Given the description of an element on the screen output the (x, y) to click on. 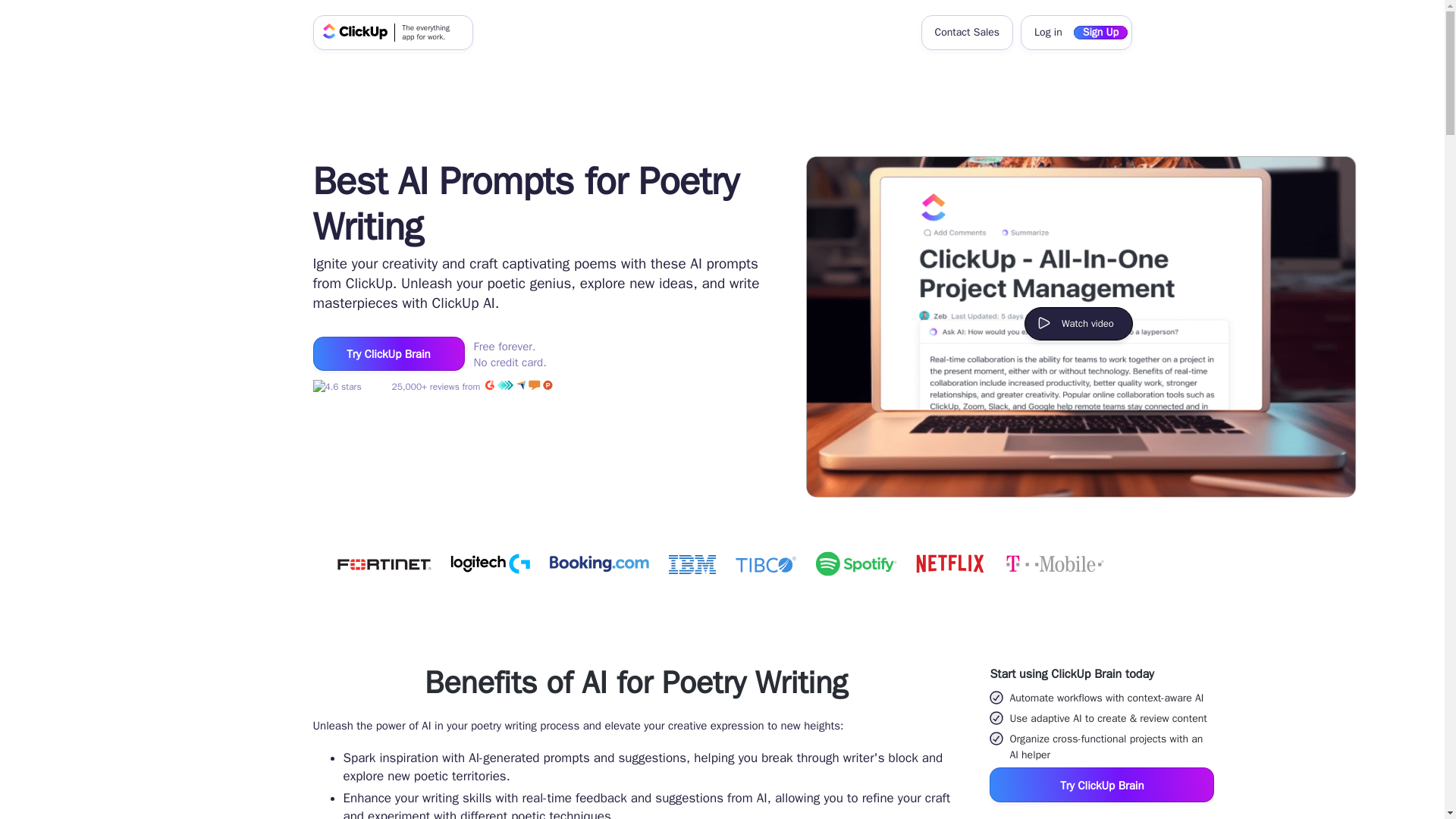
Try ClickUp Brain (388, 353)
Sign Up (1099, 32)
Log in (1048, 32)
Try ClickUp Brain (1102, 785)
Contact Sales (966, 32)
